Given the description of an element on the screen output the (x, y) to click on. 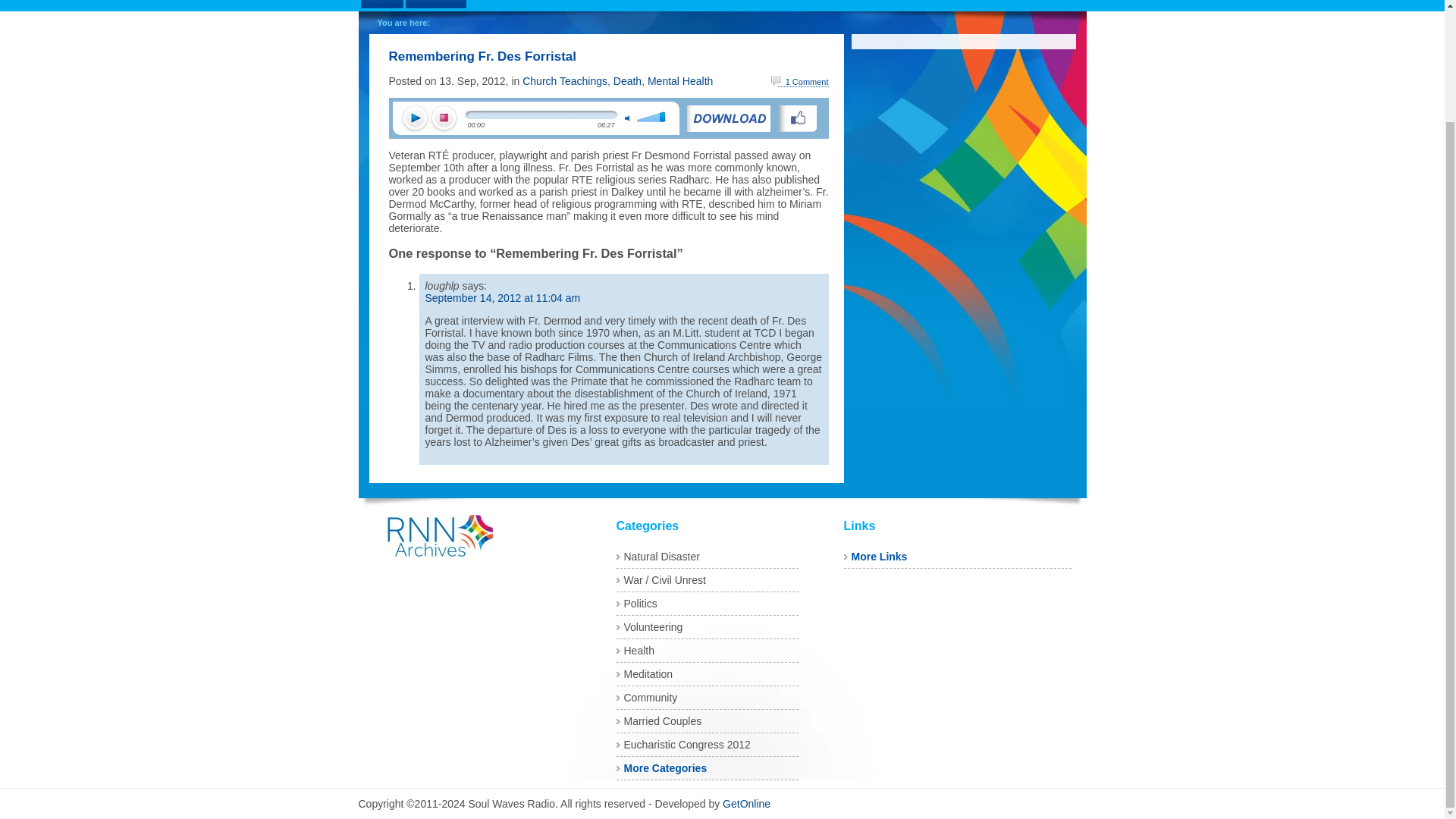
View all posts in Politics (639, 603)
Natural Disaster (660, 556)
Politics (639, 603)
September 14, 2012 at 11:04 am (502, 297)
View all posts in Volunteering (652, 626)
stop (443, 118)
Death (627, 80)
Right click to Download File (728, 118)
More Links (878, 556)
Community (650, 697)
View all posts in Eucharistic Congress 2012 (686, 744)
View all posts in Natural Disaster (660, 556)
Mental Health (680, 80)
Archives (435, 3)
Health (638, 650)
